Given the description of an element on the screen output the (x, y) to click on. 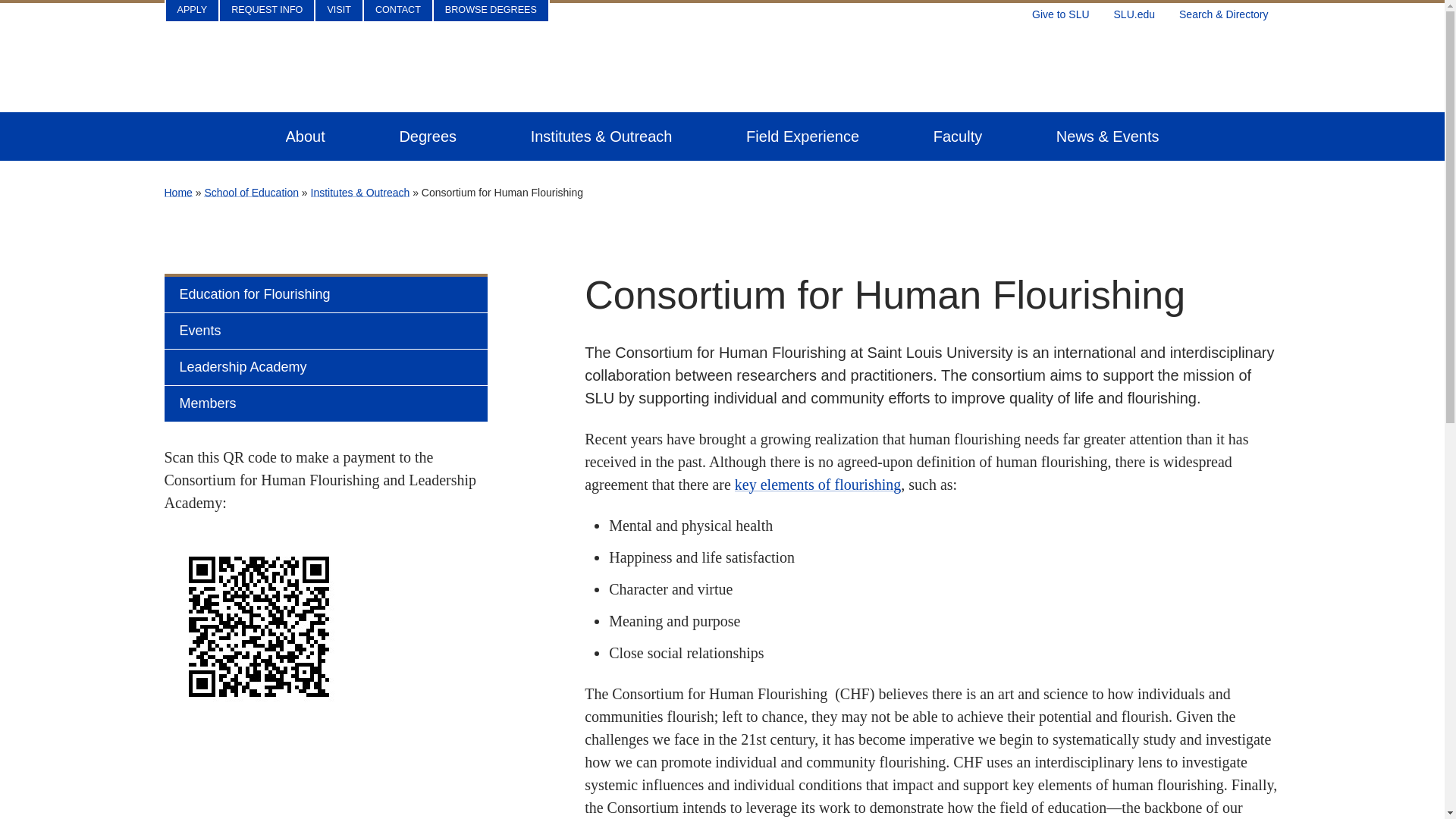
CONTACT (398, 10)
REQUEST INFO (266, 10)
APPLY (191, 10)
Apply to Saint Louis University (191, 10)
About (304, 135)
Clickable Search Hourglass Icon (1229, 10)
About the School of Education (304, 135)
SLU.edu (1133, 10)
Faculty (957, 135)
Give to SLU (1060, 10)
